Given the description of an element on the screen output the (x, y) to click on. 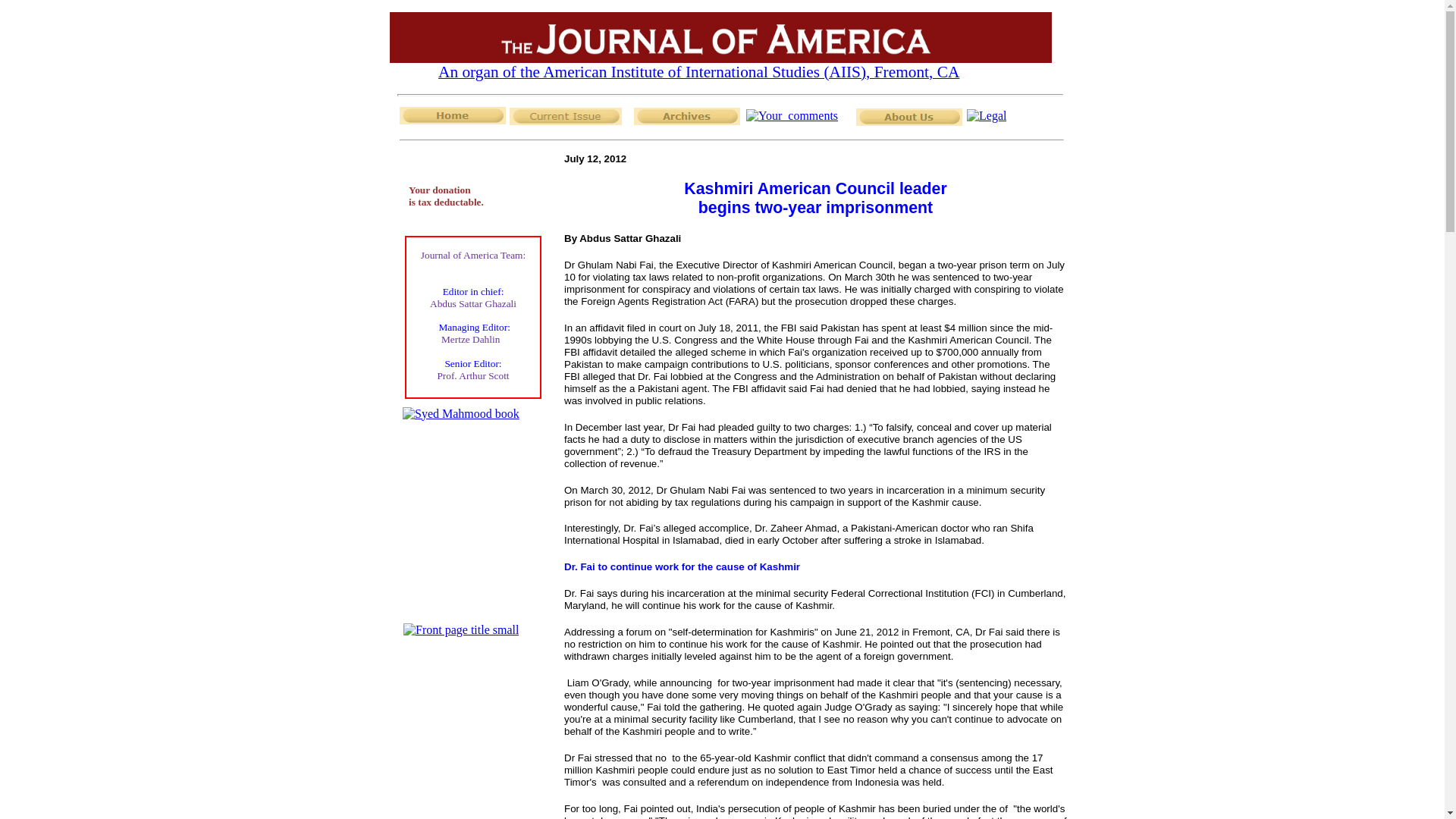
Front page title small (460, 630)
Syed Mahmood book (461, 413)
Legal (986, 115)
Home (451, 115)
Archives (686, 116)
JOA-F (720, 37)
